Given the description of an element on the screen output the (x, y) to click on. 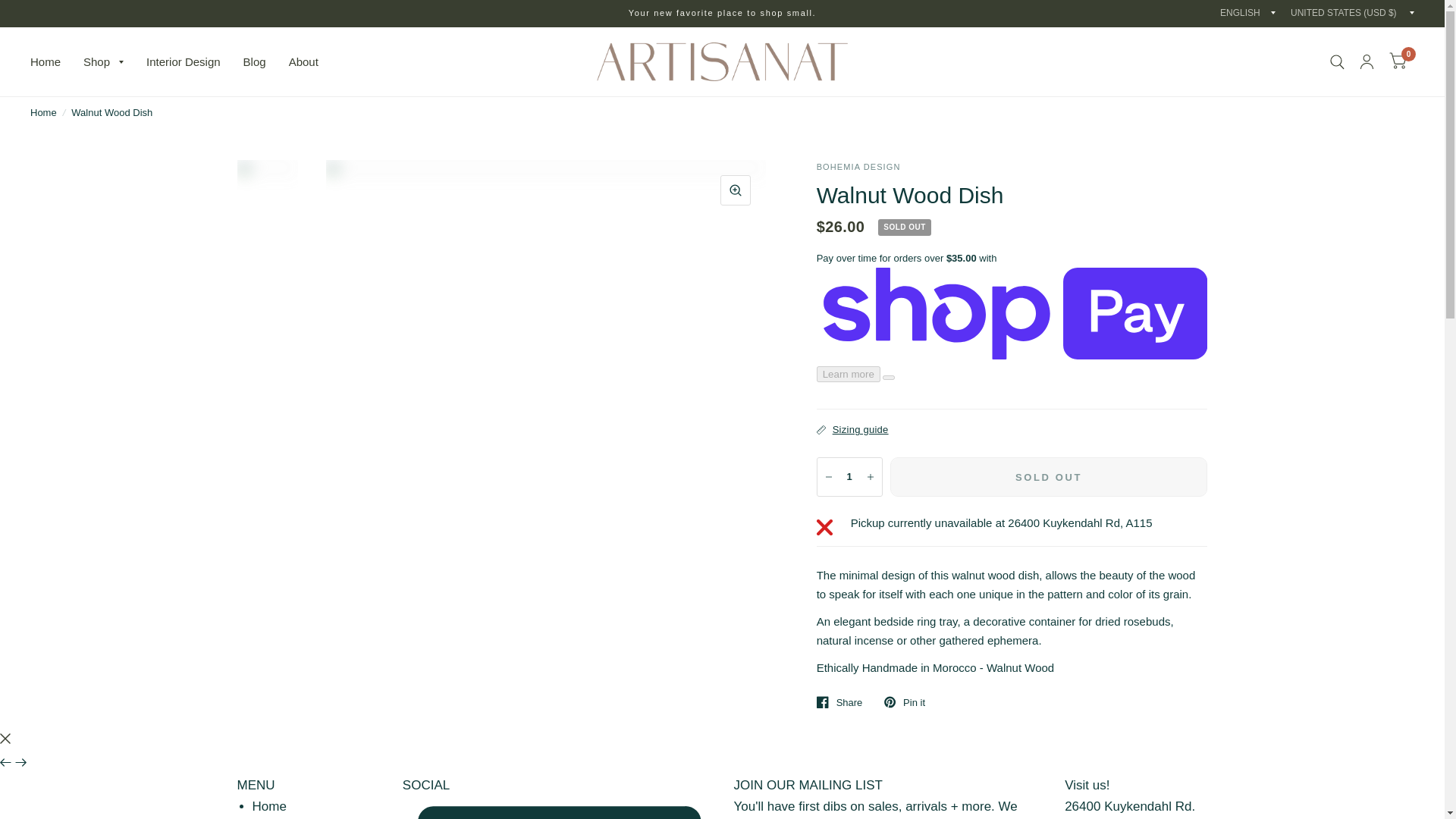
Interior Design (184, 62)
Shop (102, 62)
